Given the description of an element on the screen output the (x, y) to click on. 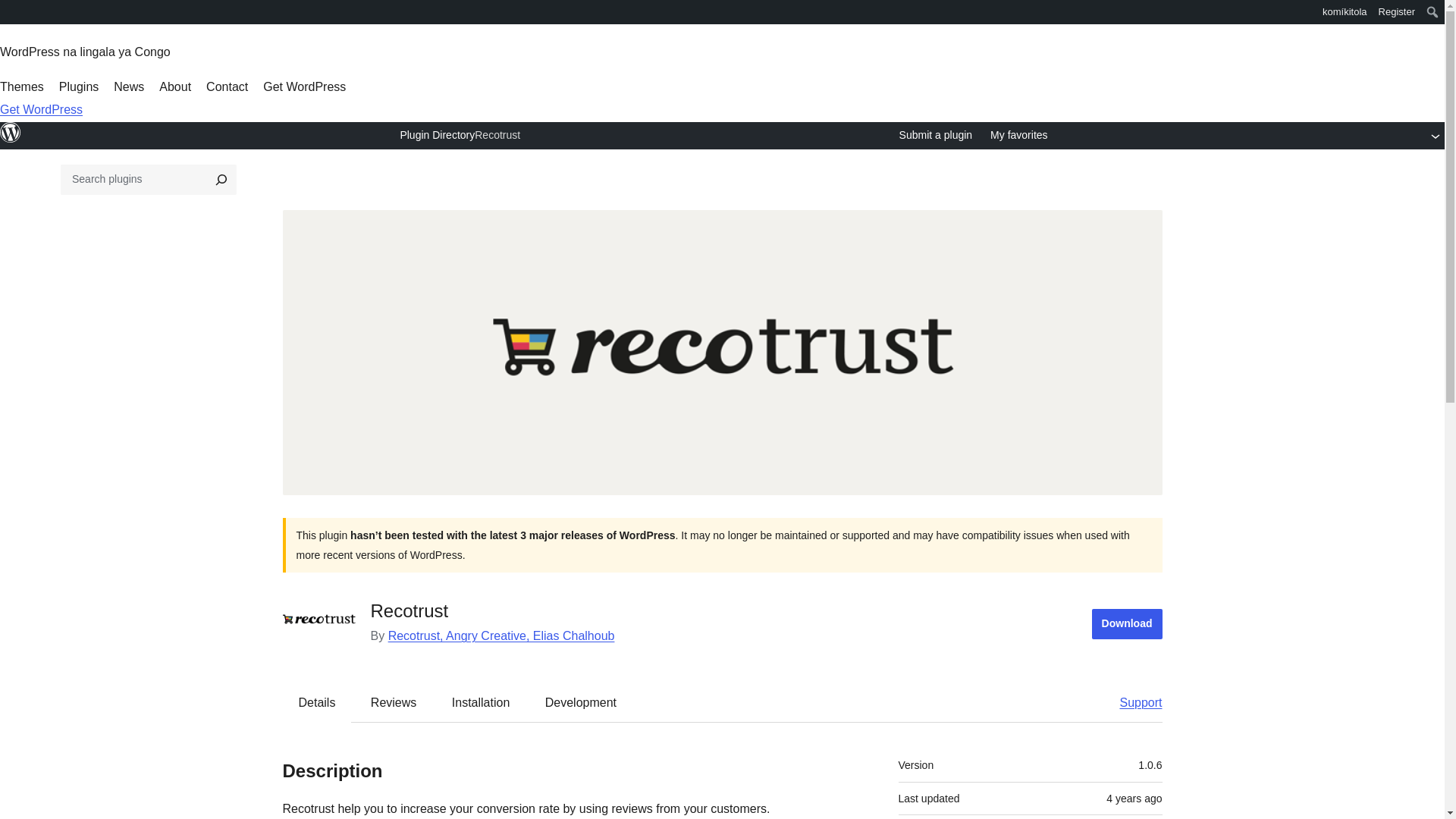
Themes (21, 87)
Submit a plugin (935, 135)
News (128, 87)
Reviews (392, 702)
Get WordPress (304, 87)
Contact (226, 87)
Plugin Directory (436, 134)
About (174, 87)
Plugins (79, 87)
WordPress.org (10, 139)
